Given the description of an element on the screen output the (x, y) to click on. 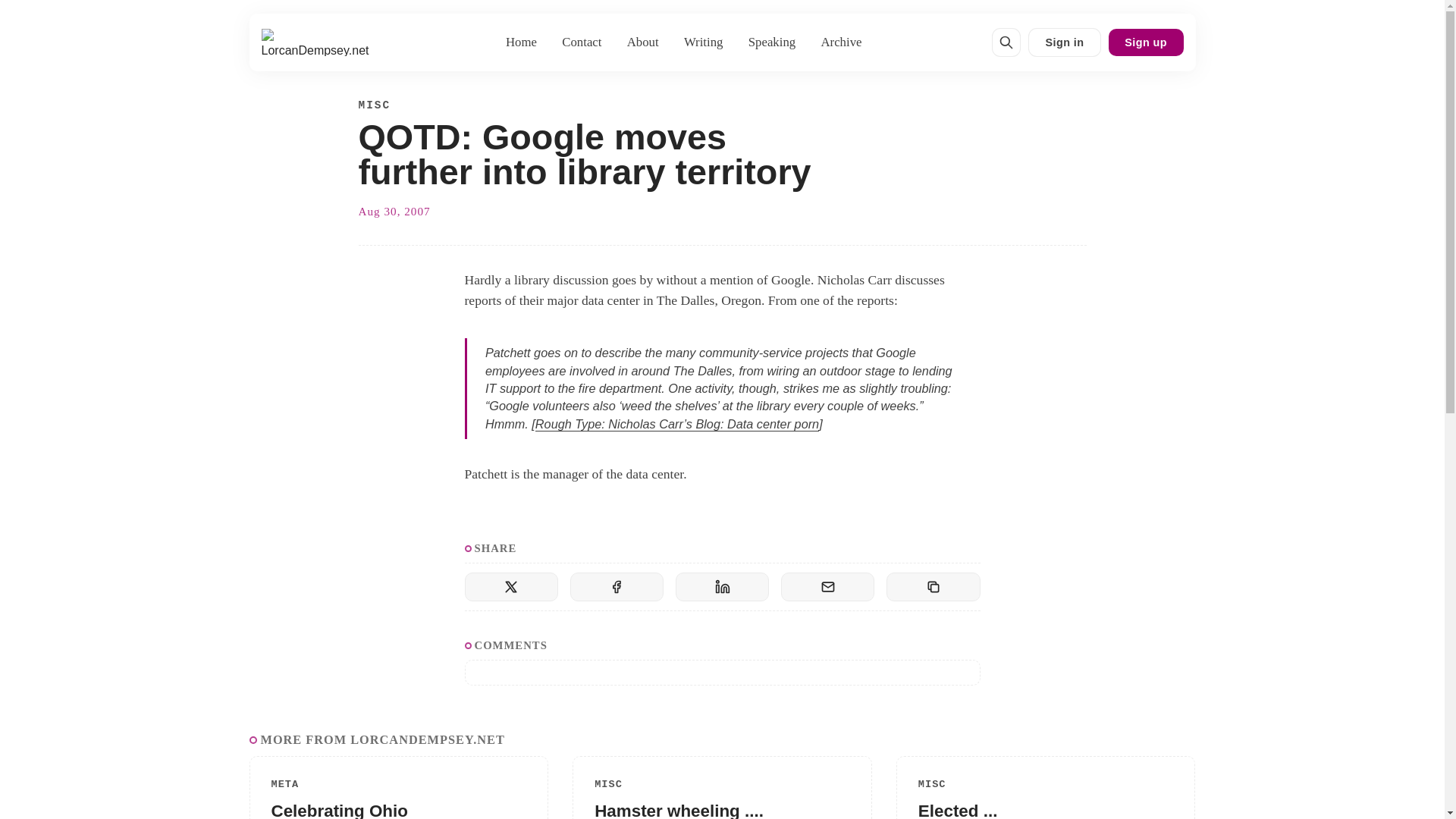
Share by email (827, 586)
Copy to clipboard (932, 586)
Share on Twitter (510, 586)
Sign up (1145, 42)
Home (521, 41)
Writing (702, 41)
MISC (374, 105)
Speaking (771, 41)
Celebrating Ohio (338, 810)
About (641, 41)
Share on Linkedin (721, 586)
Search (1006, 42)
Contact (581, 41)
Archive (841, 41)
META (284, 784)
